Given the description of an element on the screen output the (x, y) to click on. 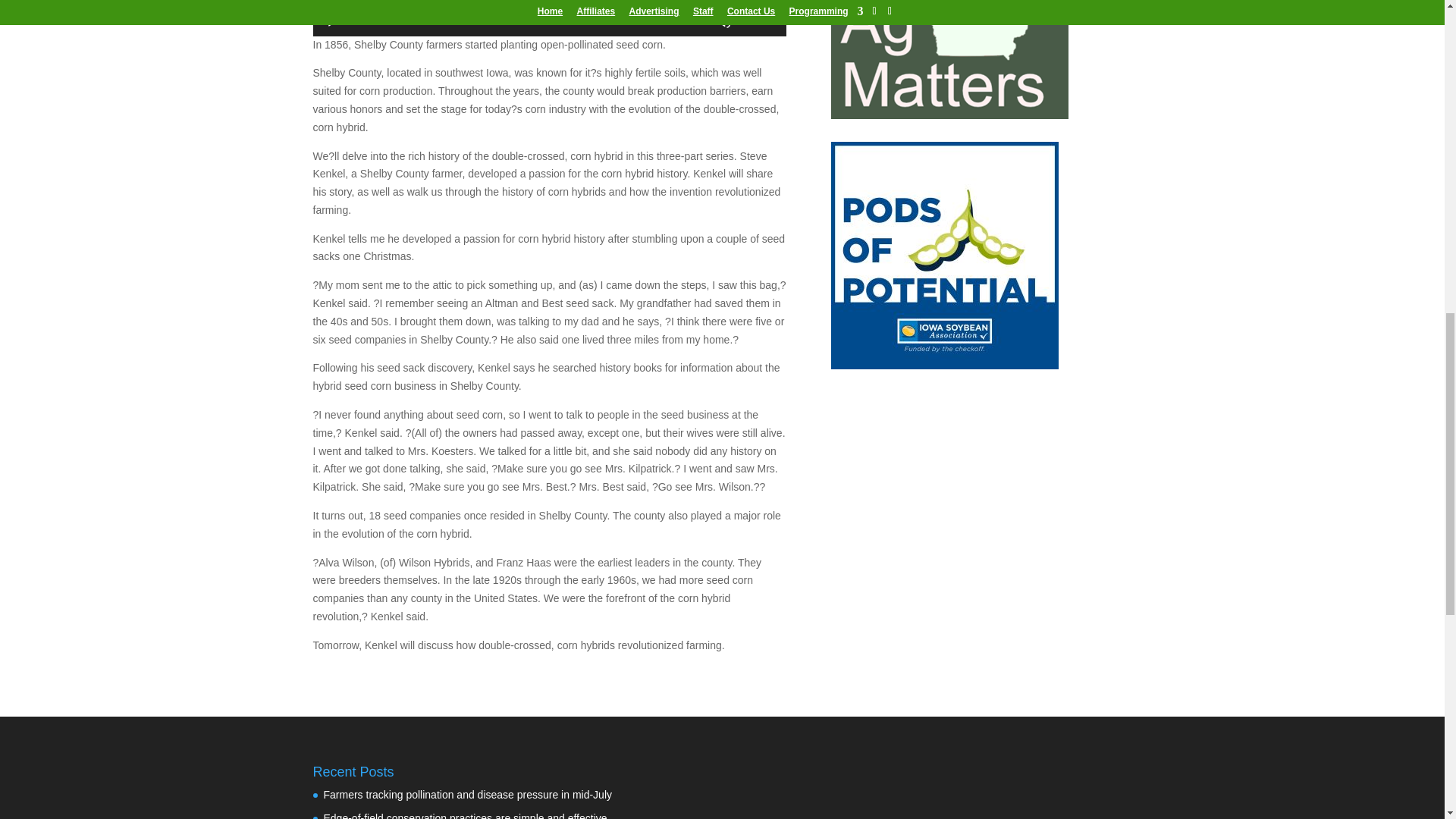
Mute (724, 20)
ISA23-PodsofPotential-Cover (944, 255)
Play (331, 20)
Iowa-Ag-Matters-Podcast-Resized (949, 59)
